Given the description of an element on the screen output the (x, y) to click on. 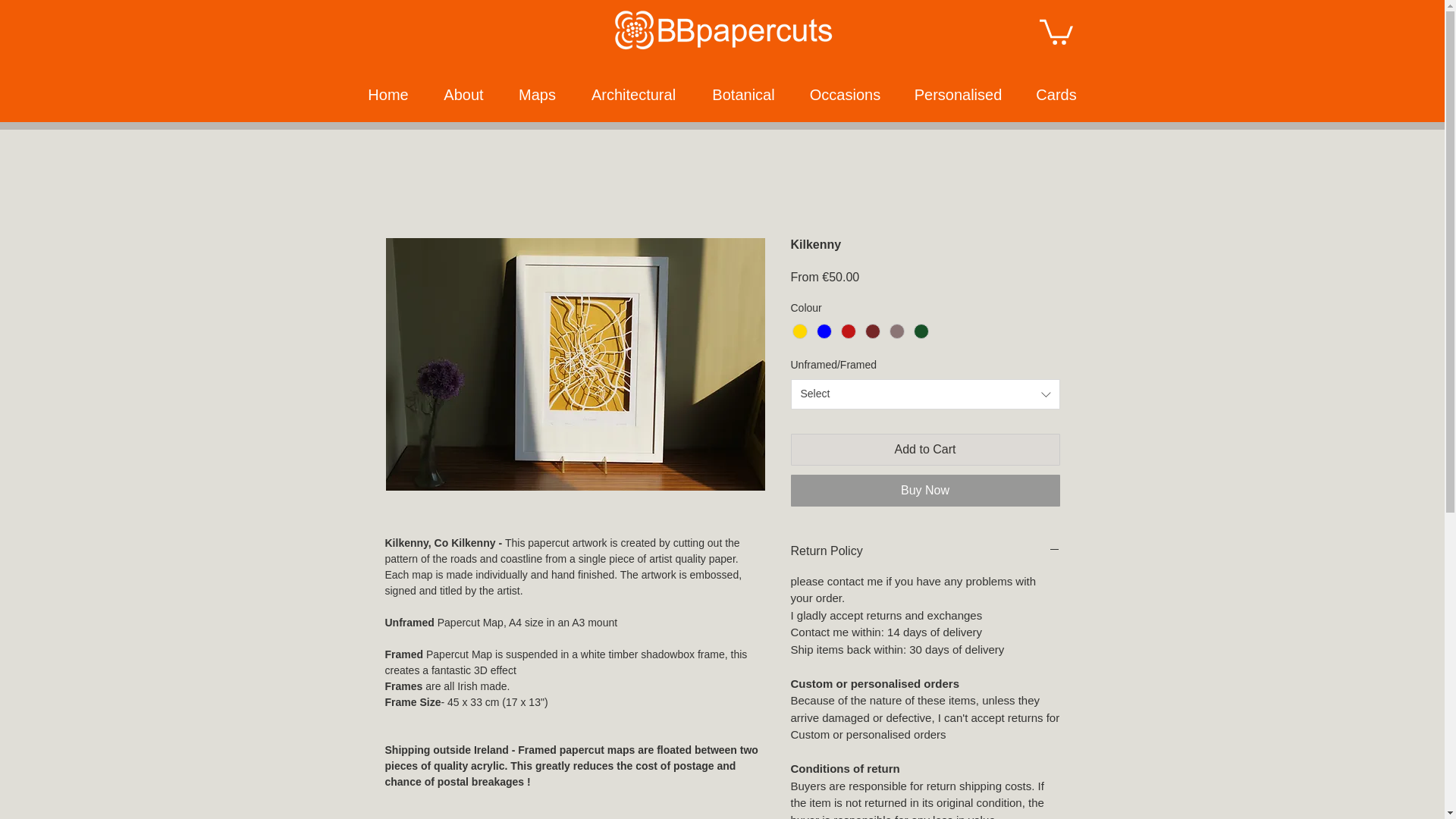
Return Policy (924, 550)
Select (924, 394)
Buy Now (924, 490)
Add to Cart (924, 450)
About (464, 94)
Home (387, 94)
